Given the description of an element on the screen output the (x, y) to click on. 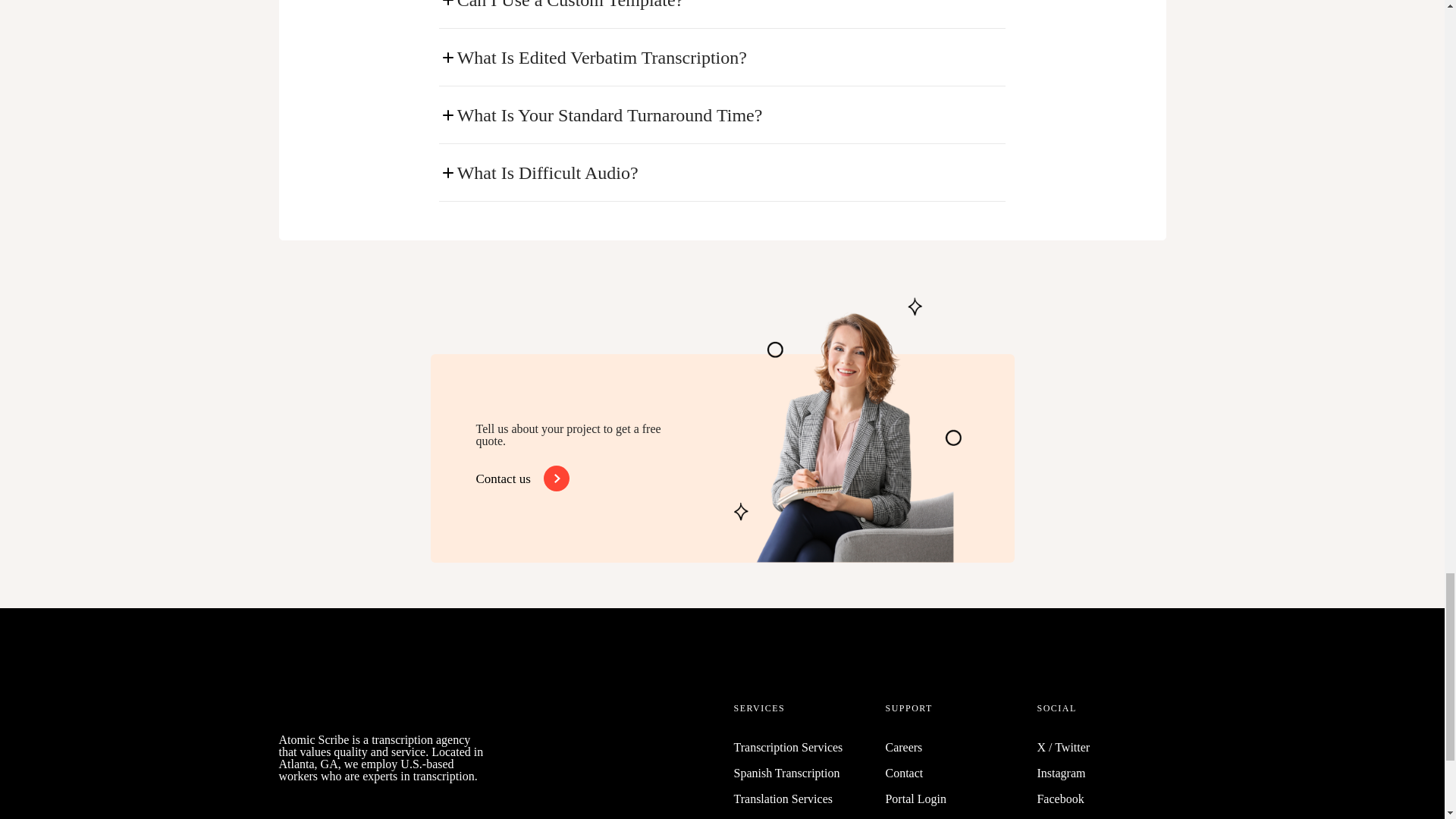
Translation Services (782, 798)
Careers (903, 747)
Contact (904, 772)
Facebook (1059, 798)
Spanish Transcription (786, 772)
Portal Login (914, 798)
Instagram (1060, 772)
Contact us (519, 479)
Transcription Services (788, 747)
